Given the description of an element on the screen output the (x, y) to click on. 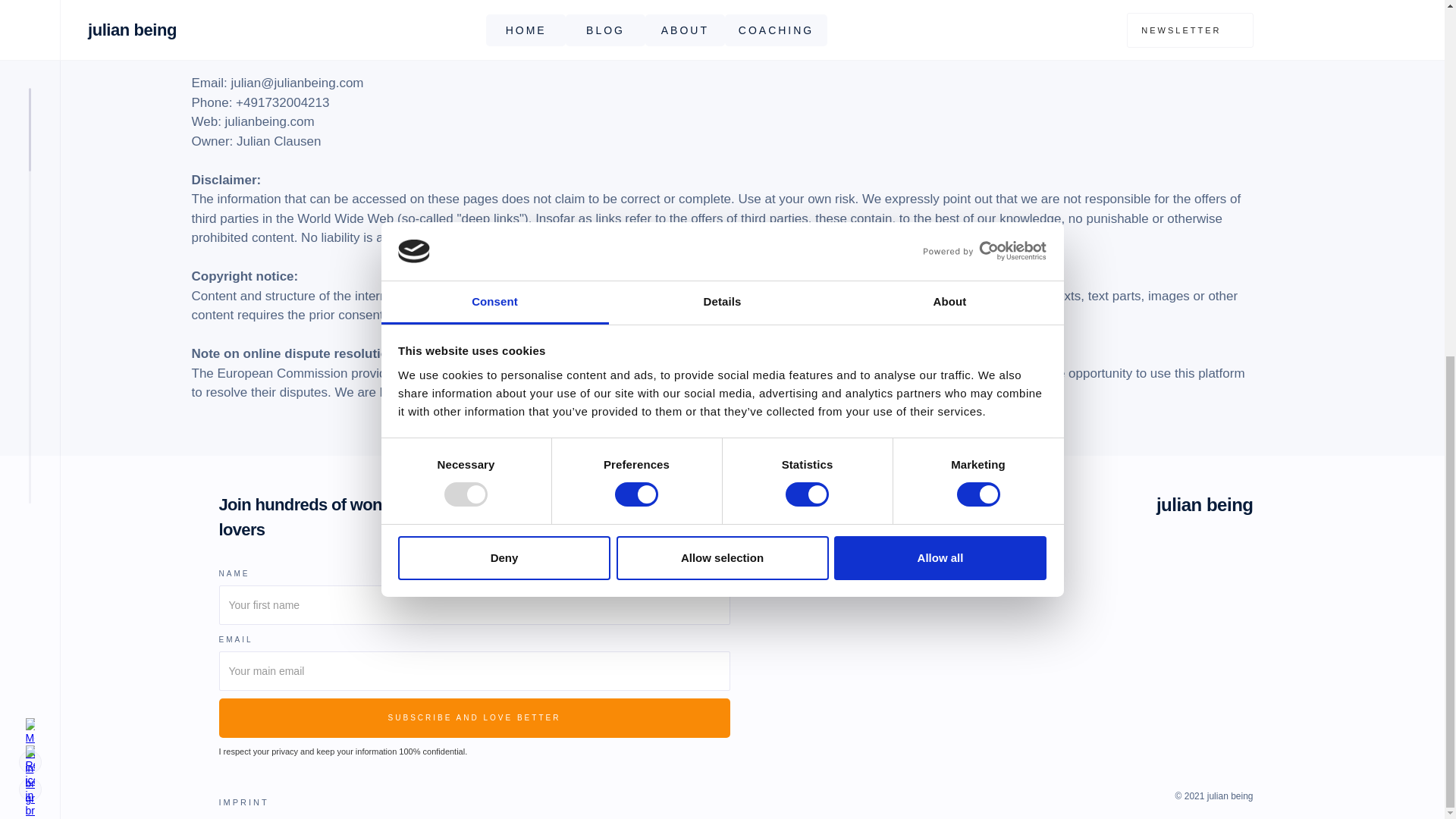
Subscribe and love better (473, 717)
